Given the description of an element on the screen output the (x, y) to click on. 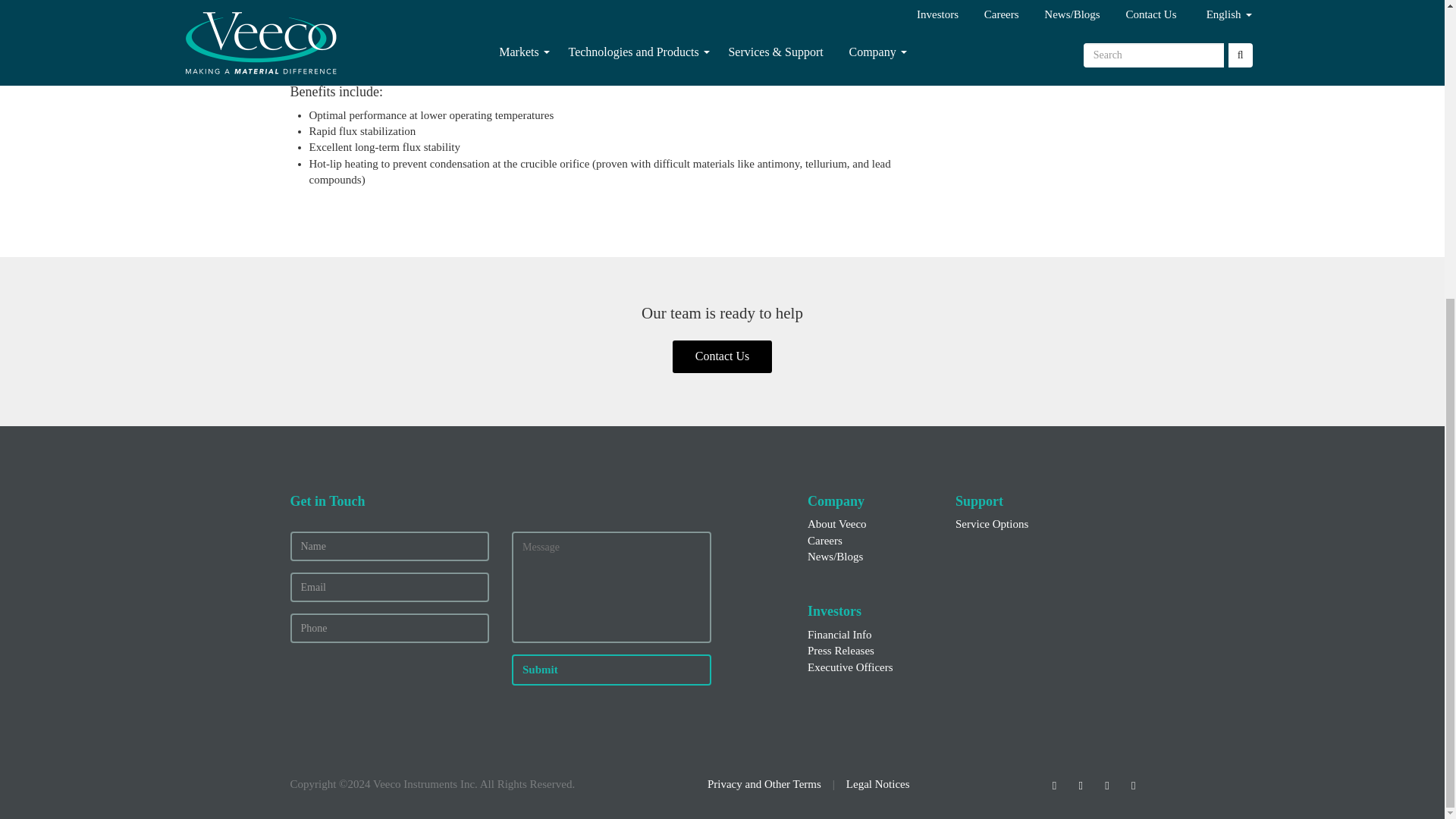
Youtube (1132, 784)
LinkedIn (1053, 784)
Twitter (1080, 784)
Submit (611, 669)
Facebook (1106, 784)
